Given the description of an element on the screen output the (x, y) to click on. 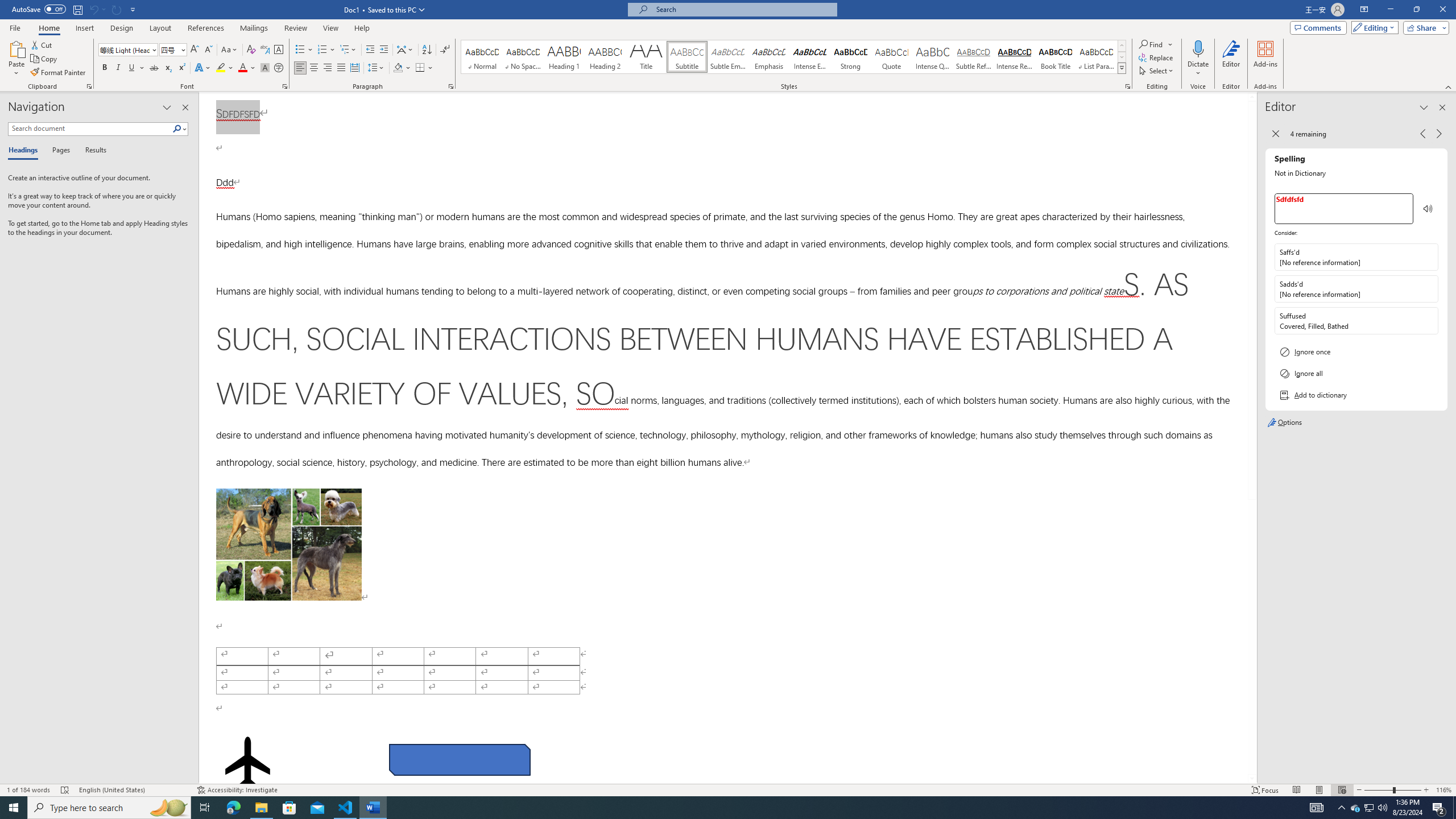
Close pane (185, 107)
Spelling and Grammar Check Errors (65, 790)
Font... (285, 85)
Emphasis (768, 56)
Open (182, 49)
Borders (424, 67)
Accessibility Checker Accessibility: Investigate (237, 790)
Minimize (1390, 9)
References (205, 28)
Replace... (1156, 56)
Restore Down (1416, 9)
Intense Quote (932, 56)
Change Case (229, 49)
